Given the description of an element on the screen output the (x, y) to click on. 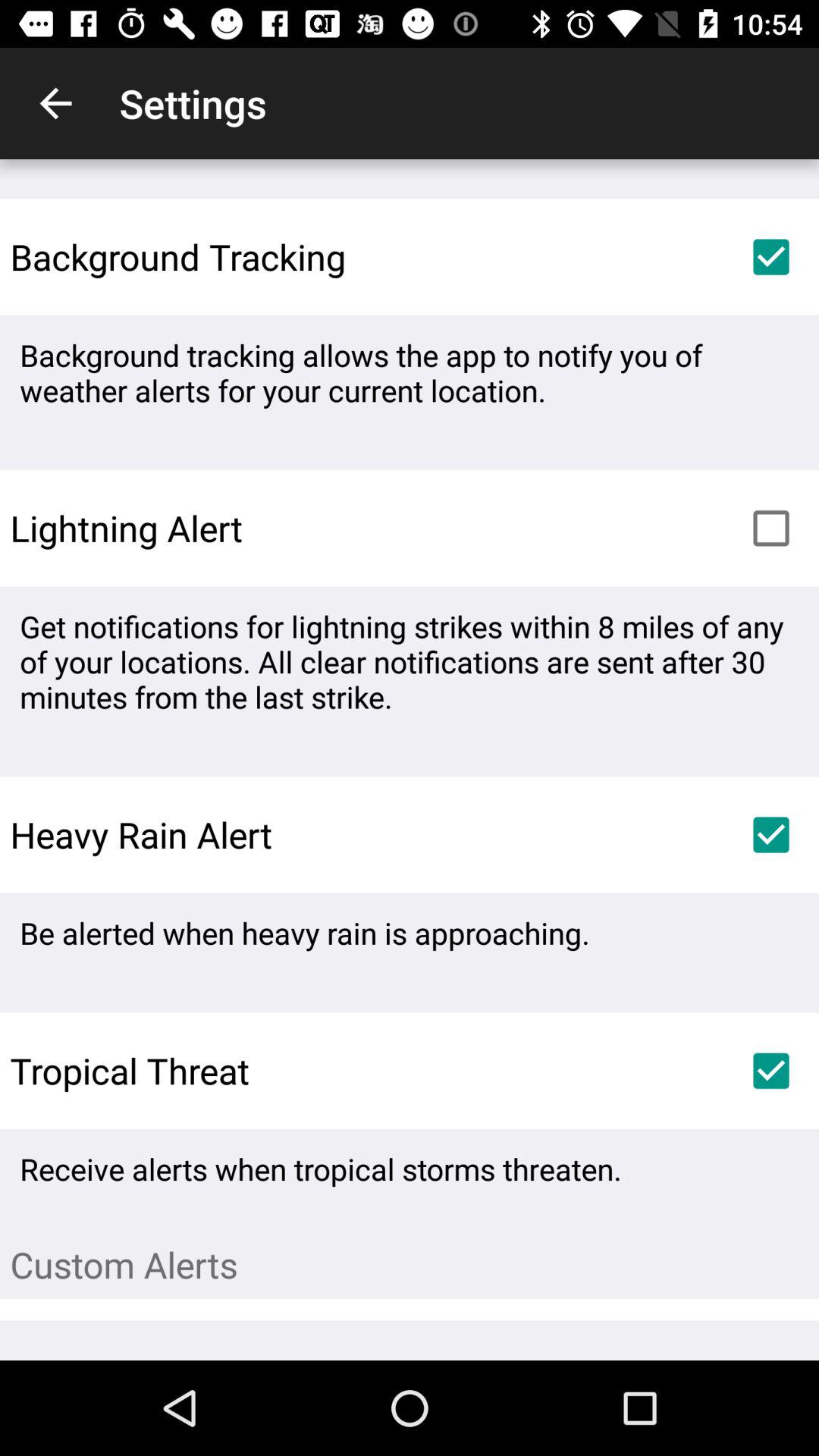
turn off the item to the right of heavy rain alert icon (771, 834)
